Given the description of an element on the screen output the (x, y) to click on. 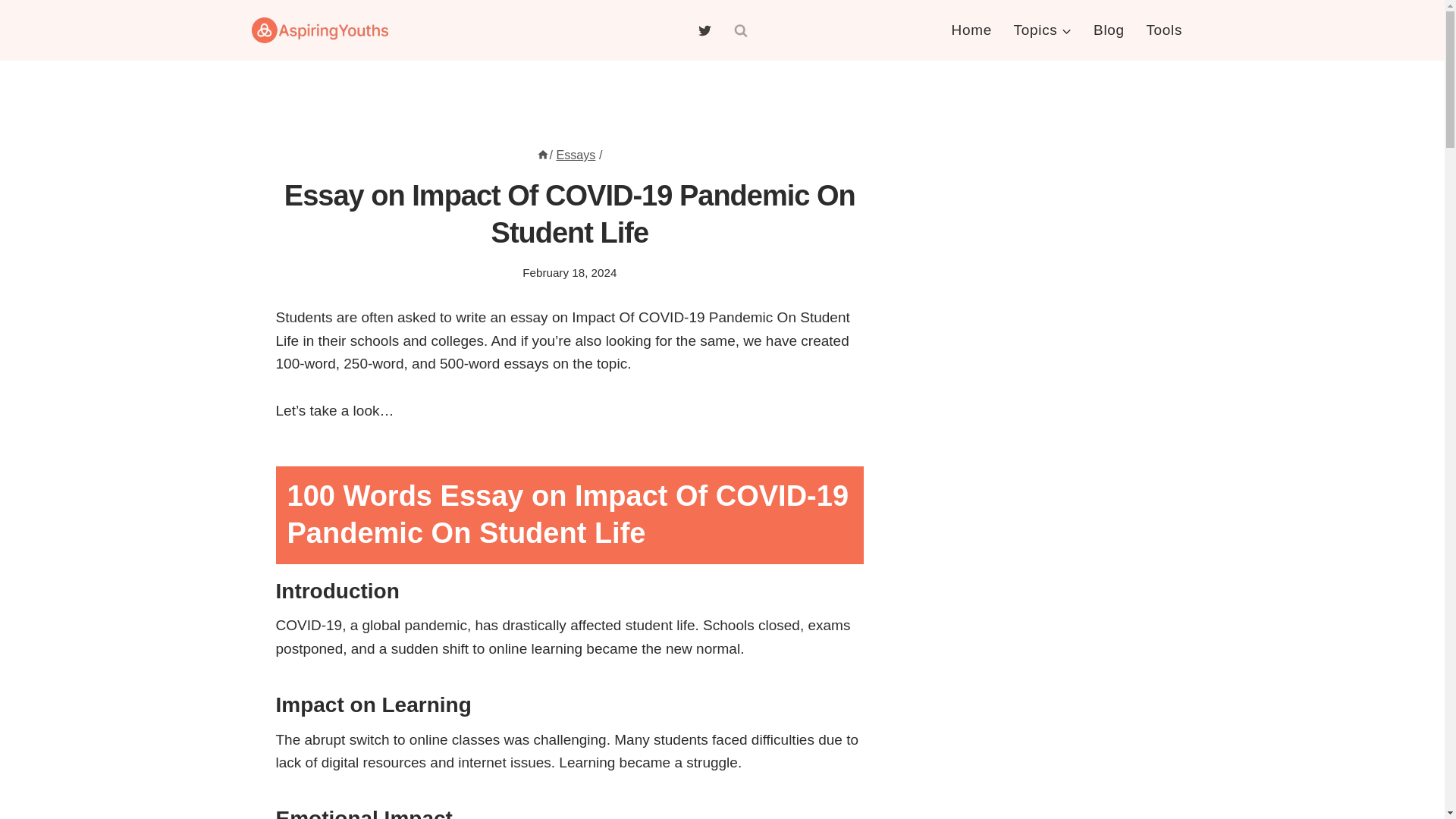
Tools (1163, 30)
Home (971, 30)
Essays (575, 154)
Home (542, 154)
Blog (1109, 30)
Topics (1043, 30)
